Given the description of an element on the screen output the (x, y) to click on. 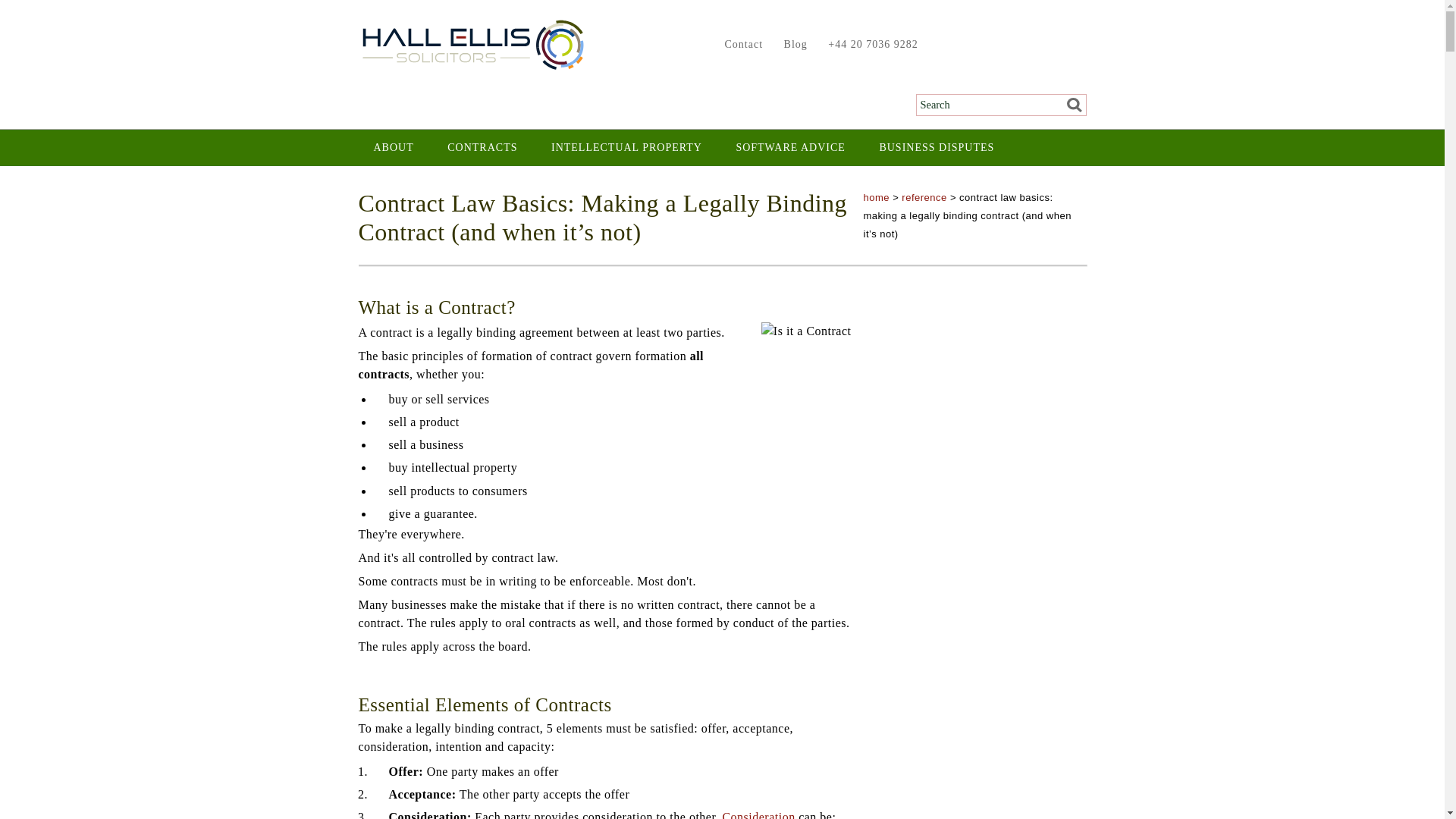
Search (1069, 105)
Blog (791, 44)
SOFTWARE ADVICE (790, 147)
BUSINESS DISPUTES (936, 147)
Go to home. (876, 197)
INTELLECTUAL PROPERTY (626, 147)
Contact (740, 44)
ABOUT (393, 147)
Search (1069, 105)
Search (1069, 105)
